Given the description of an element on the screen output the (x, y) to click on. 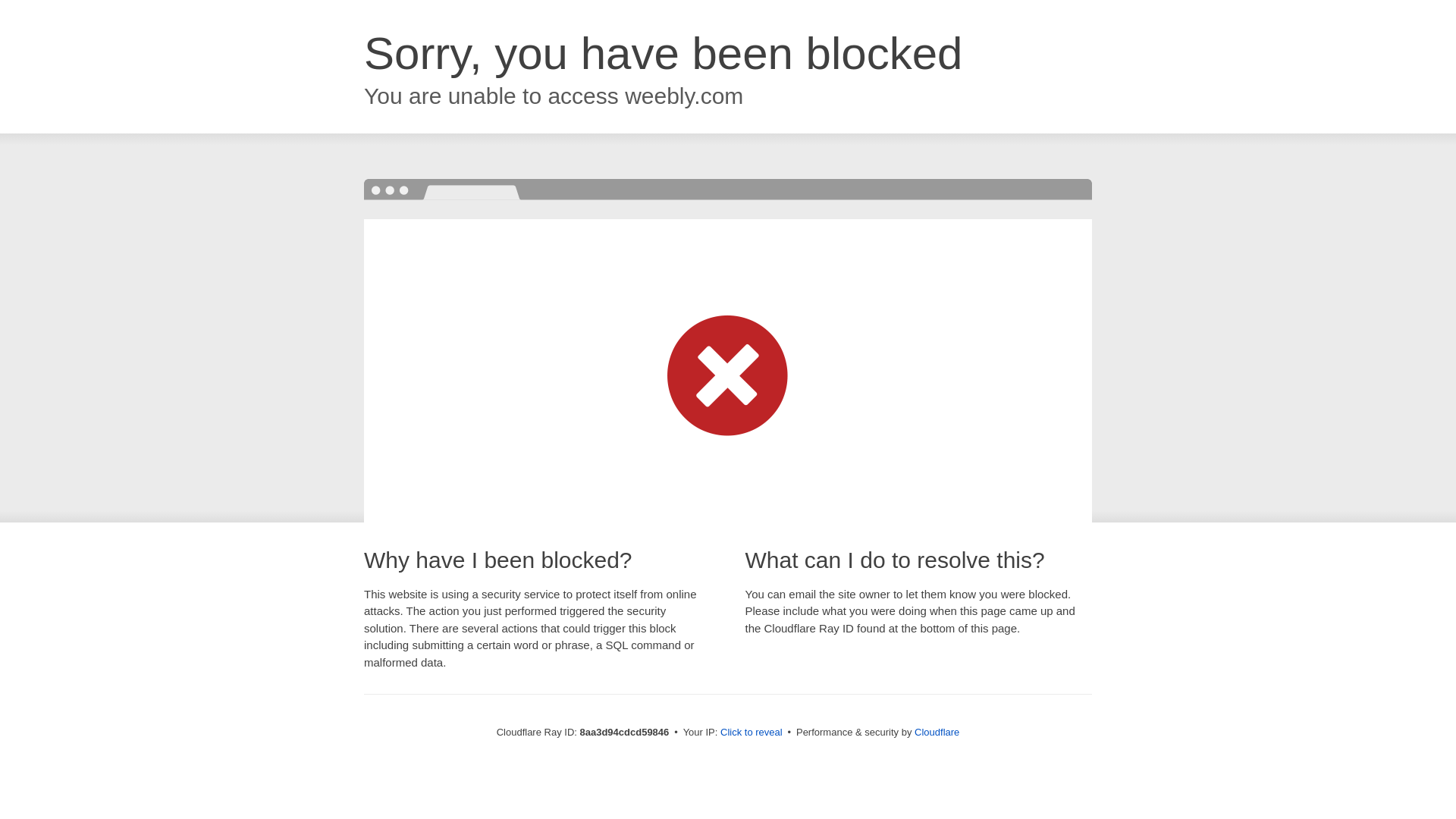
Cloudflare (936, 731)
Click to reveal (751, 732)
